Given the description of an element on the screen output the (x, y) to click on. 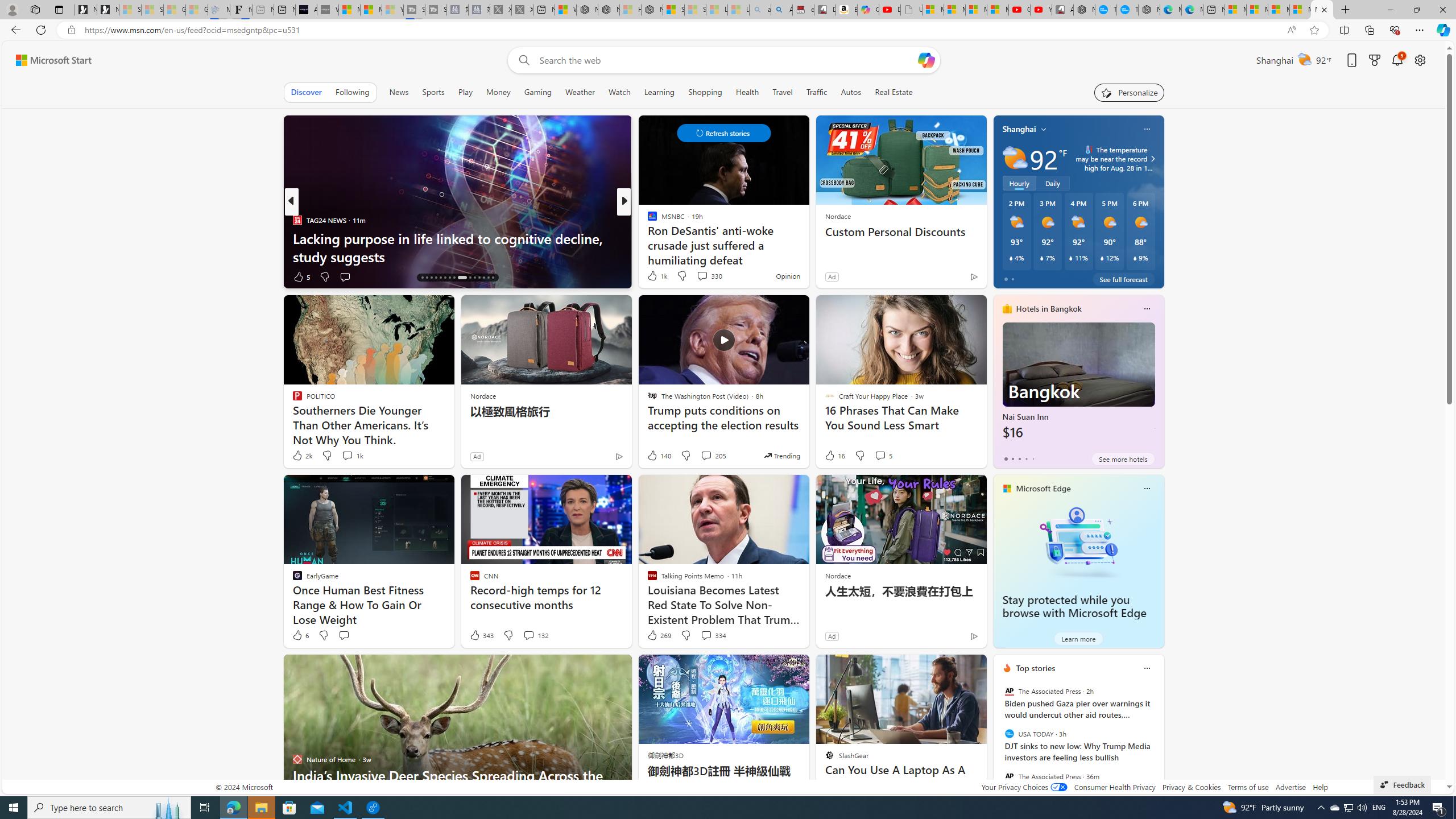
Microsoft Edge (1043, 488)
View comments 266 Comment (703, 276)
The Associated Press (1008, 775)
269 Like (658, 634)
You're following FOX News (253, 279)
View comments 1k Comment (346, 455)
